Given the description of an element on the screen output the (x, y) to click on. 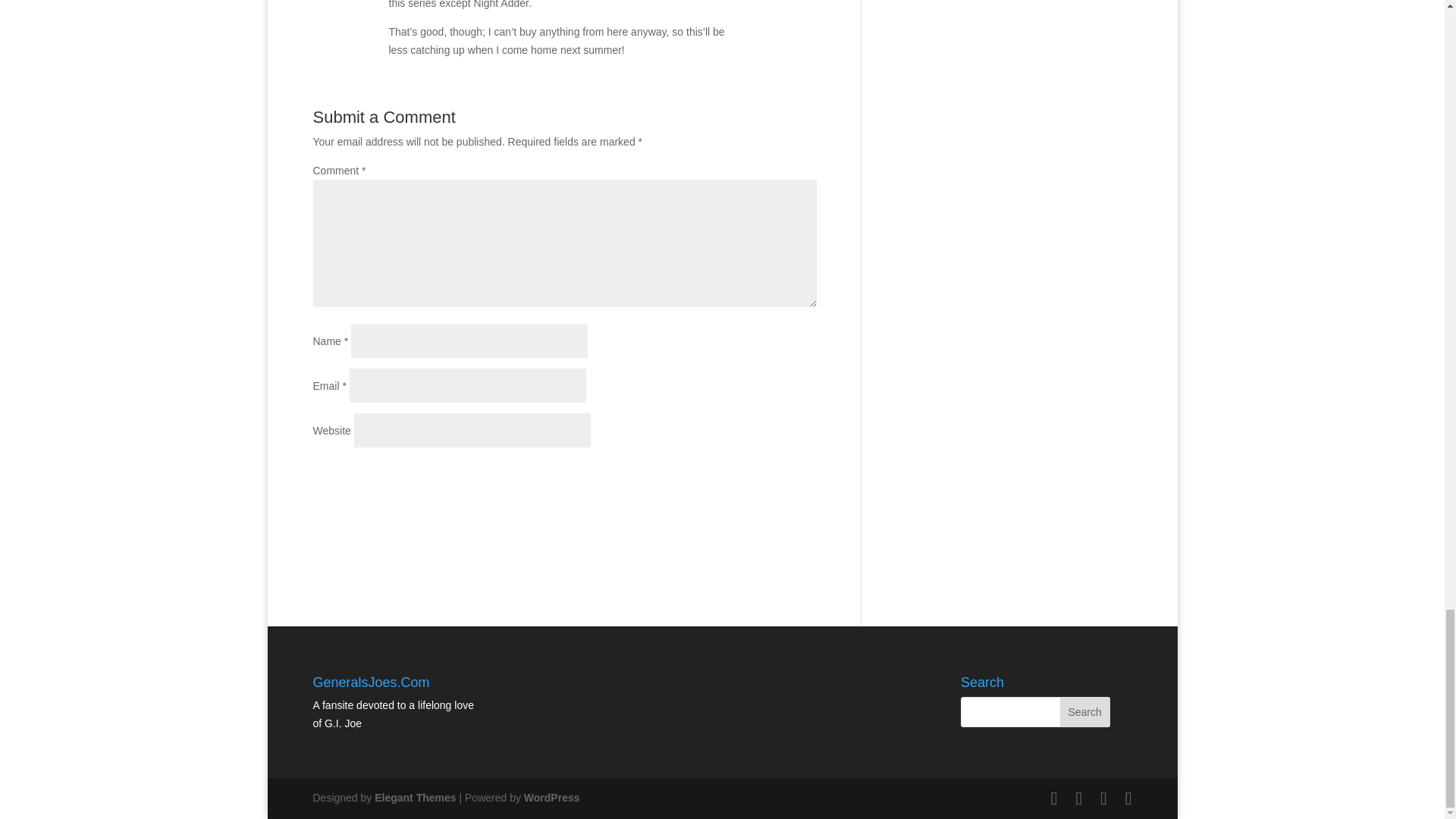
Search (1084, 711)
Submit Comment (740, 476)
Premium WordPress Themes (414, 797)
